Given the description of an element on the screen output the (x, y) to click on. 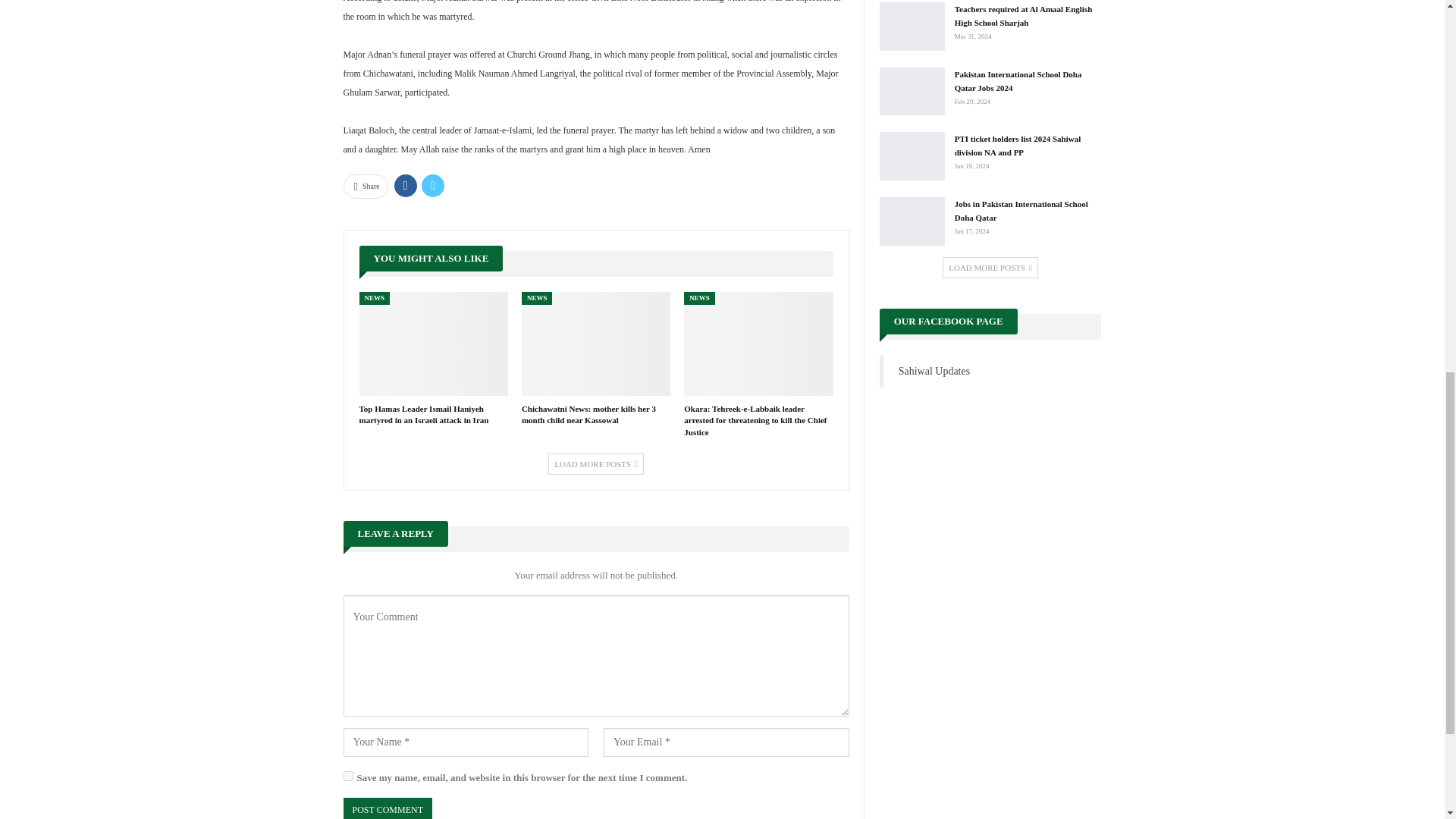
LOAD MORE POSTS (595, 464)
NEWS (374, 297)
NEWS (699, 297)
NEWS (537, 297)
yes (347, 776)
